Given the description of an element on the screen output the (x, y) to click on. 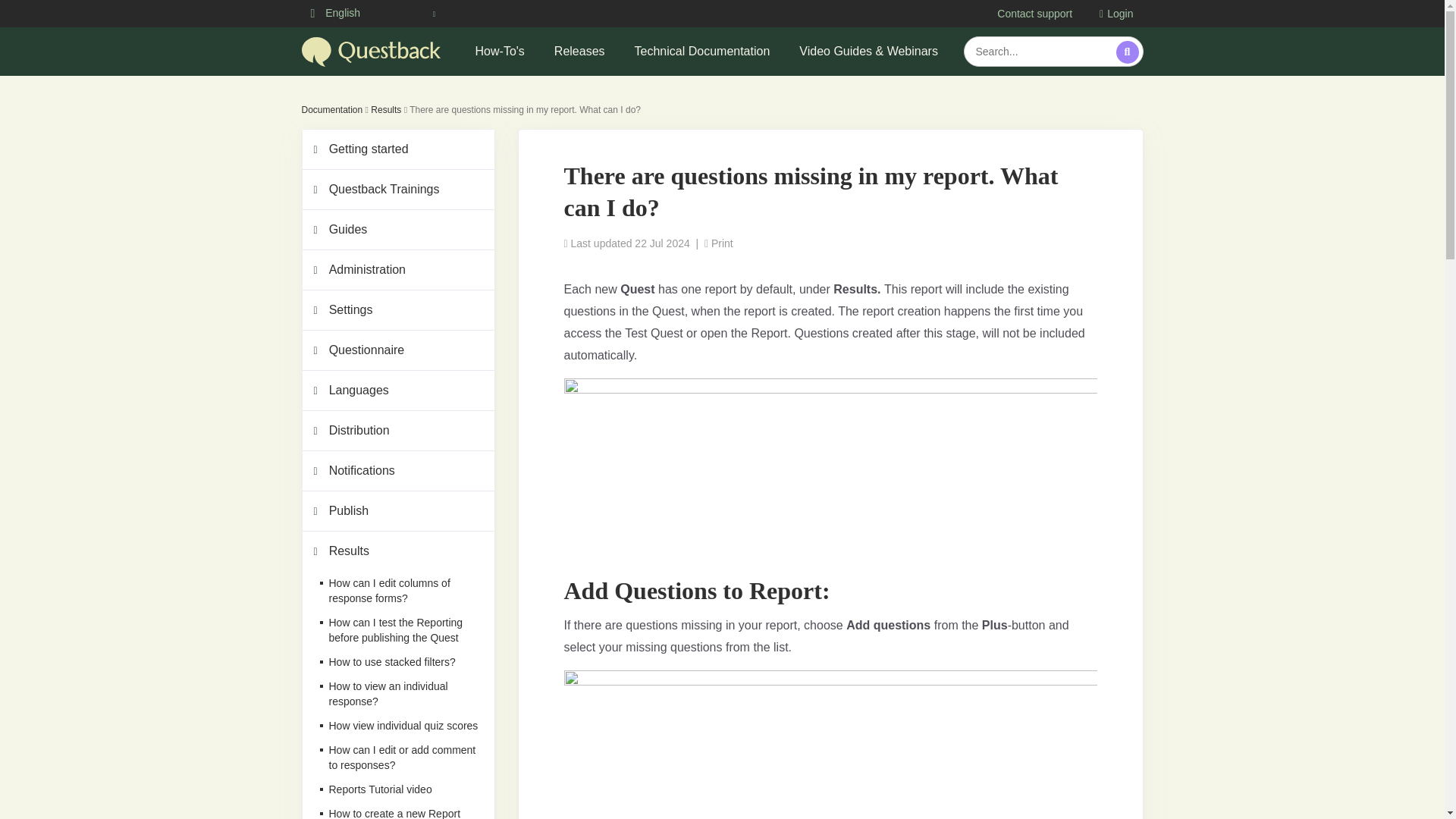
How-To's (500, 51)
Login (1115, 13)
Documentation (331, 109)
Releases (579, 51)
English (375, 12)
Results (386, 109)
Contact support (1034, 13)
Technical Documentation (702, 51)
Print (718, 243)
Getting started (397, 149)
